Given the description of an element on the screen output the (x, y) to click on. 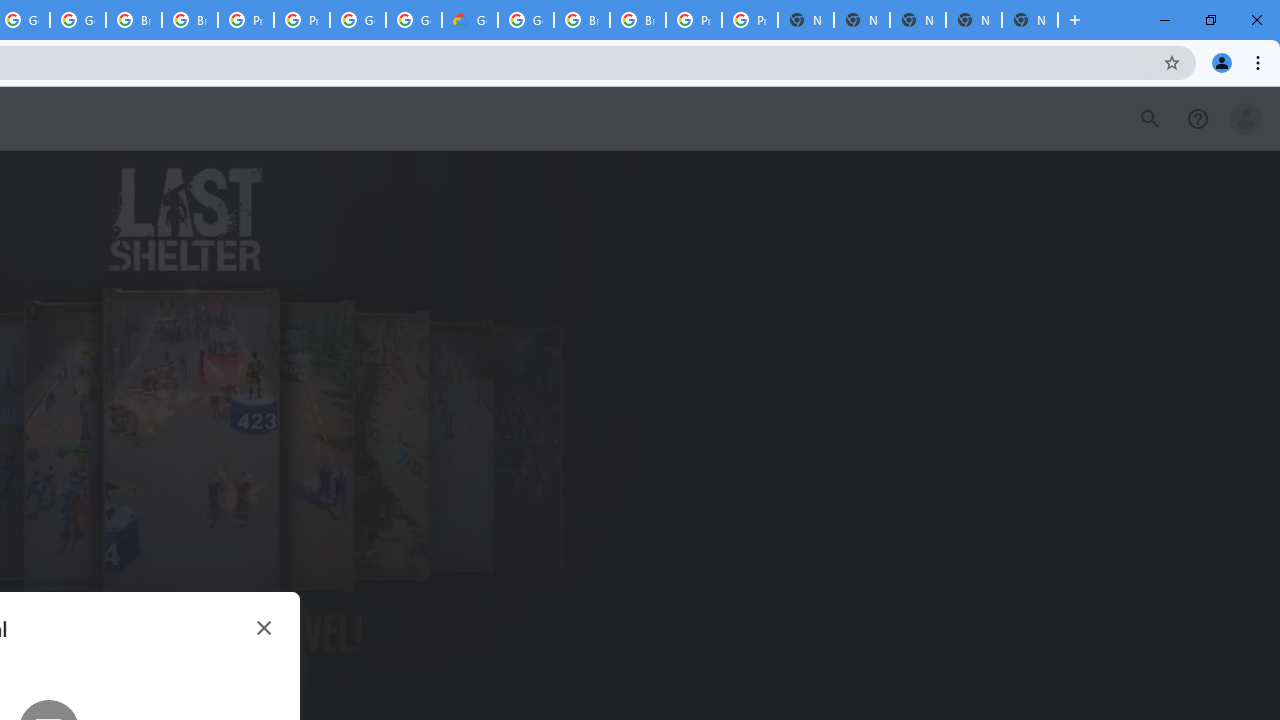
Google Cloud Platform (525, 20)
Google Cloud Platform (413, 20)
Google Cloud Estimate Summary (469, 20)
Browse Chrome as a guest - Computer - Google Chrome Help (189, 20)
Browse Chrome as a guest - Computer - Google Chrome Help (637, 20)
Browse Chrome as a guest - Computer - Google Chrome Help (582, 20)
Browse Chrome as a guest - Computer - Google Chrome Help (134, 20)
